Given the description of an element on the screen output the (x, y) to click on. 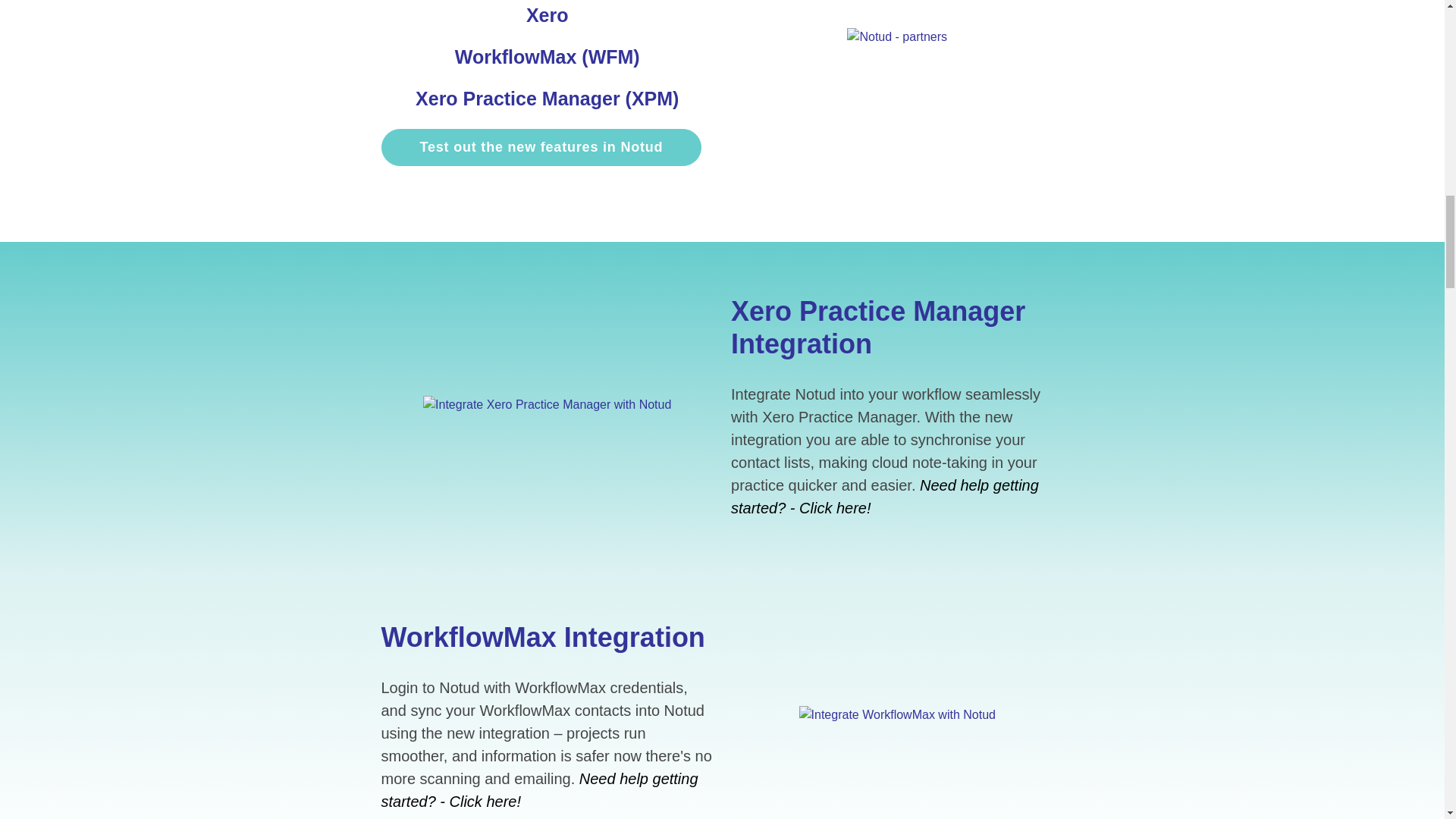
Need help getting started? - Click here!  (884, 496)
Need help getting started? - Click here! (538, 789)
Notud - partners (897, 36)
Integrate Xero Practice Manager with Notud (547, 404)
Test out the new features in Notud (540, 147)
Integrate WorkflowMax with Notud (897, 714)
